Given the description of an element on the screen output the (x, y) to click on. 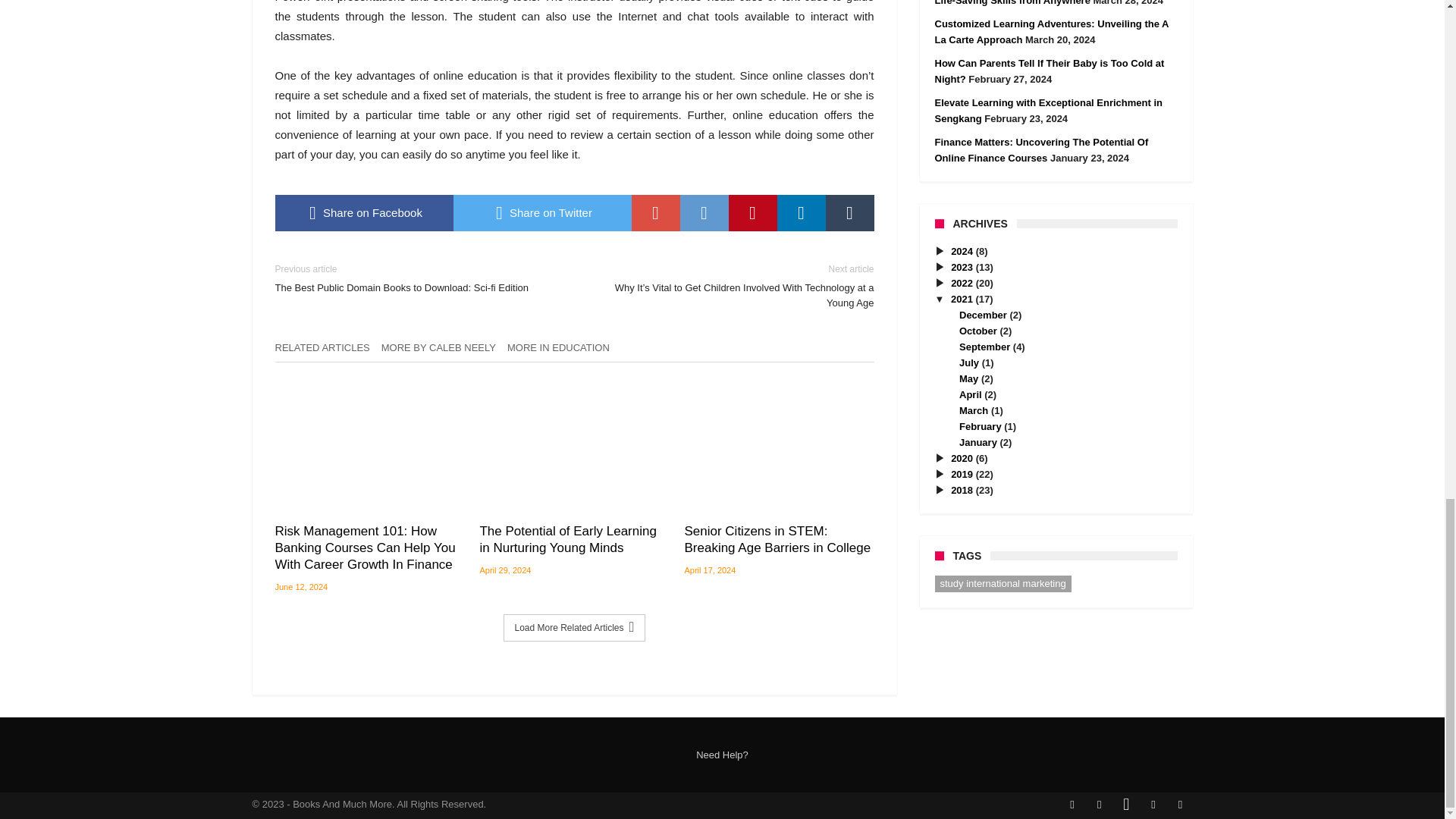
Share on Facebook (363, 212)
Share on Reddit (703, 212)
Share on Twitter (541, 212)
